Given the description of an element on the screen output the (x, y) to click on. 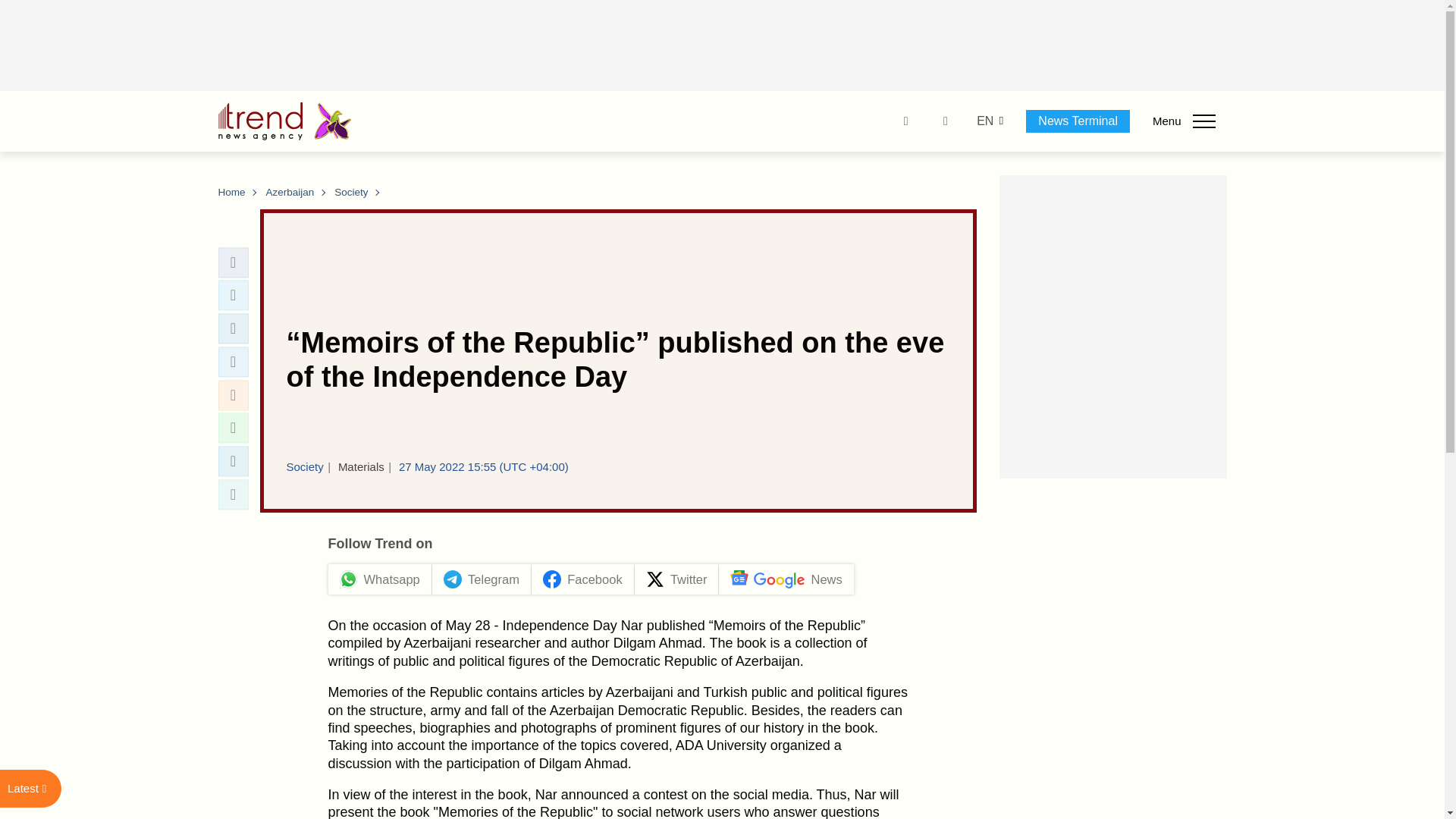
English (984, 121)
EN (984, 121)
News Terminal (1077, 120)
